Given the description of an element on the screen output the (x, y) to click on. 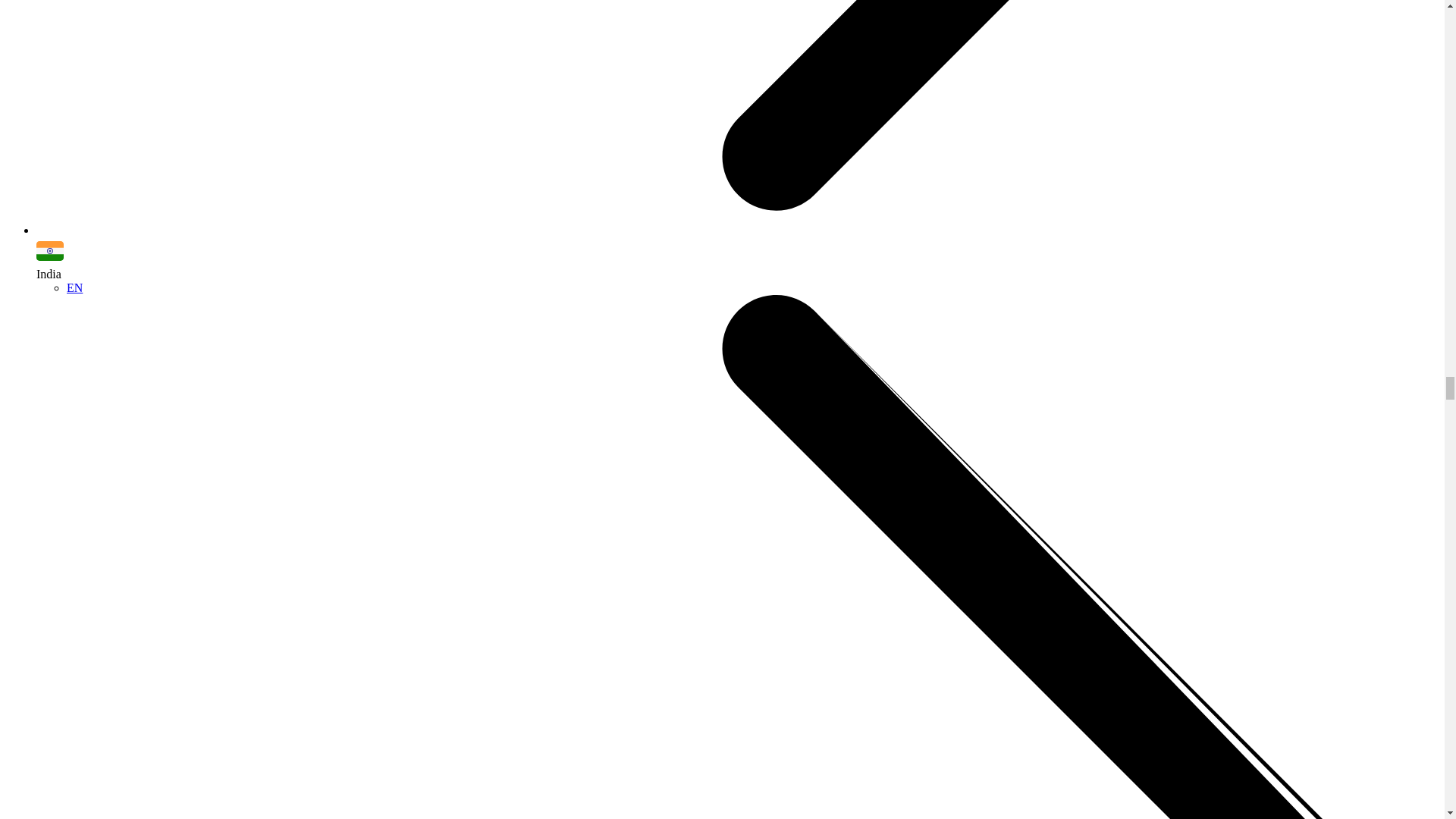
EN (74, 287)
